Given the description of an element on the screen output the (x, y) to click on. 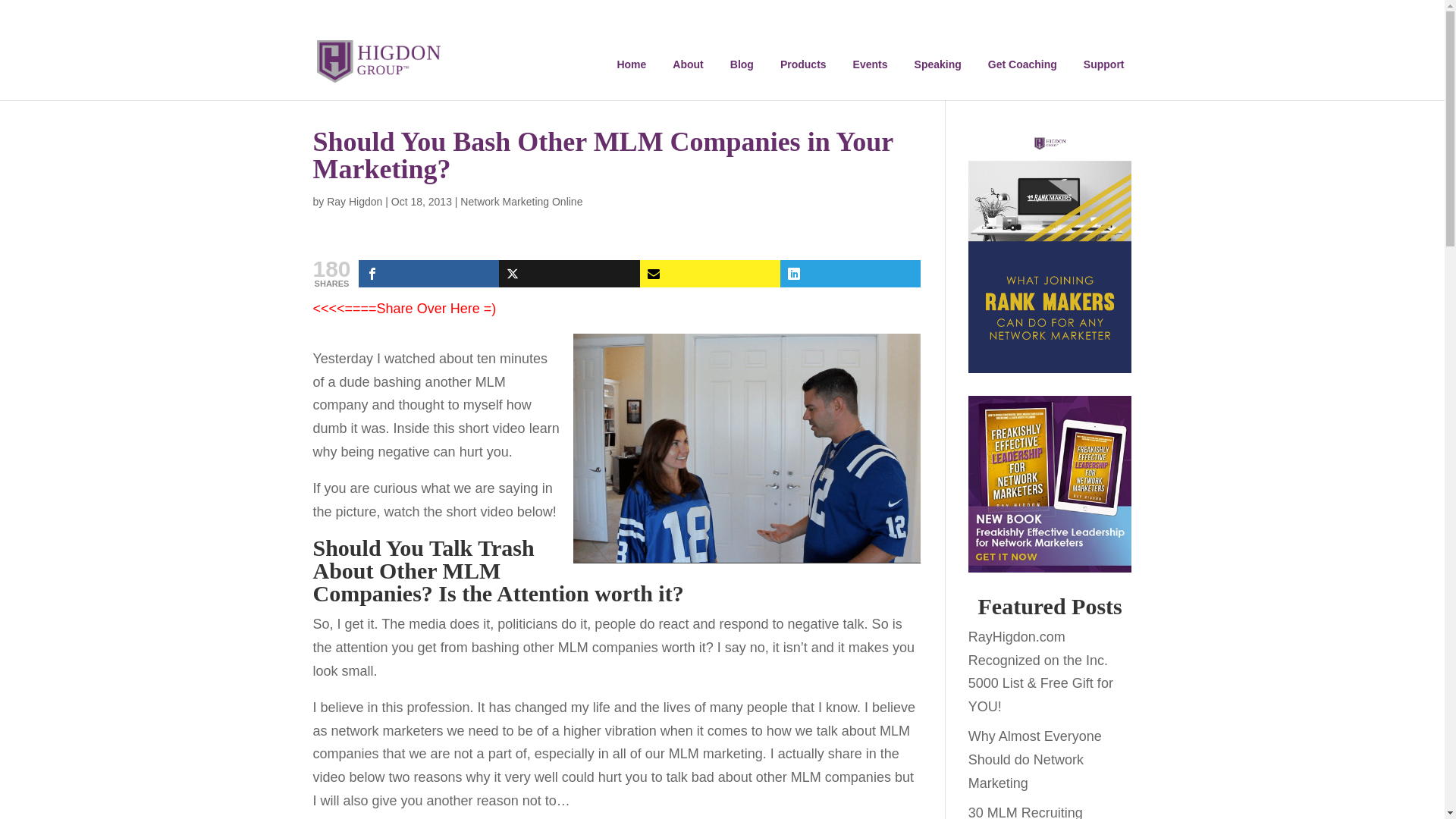
Twitter (569, 273)
Events (870, 63)
Ray Higdon (353, 201)
Support (1103, 63)
Network Marketing Online (521, 201)
Speaking (938, 63)
Home (630, 63)
Get Coaching (1021, 63)
About (687, 63)
Subscribe (710, 273)
Facebook (428, 273)
Linkedin (850, 273)
Blog (741, 63)
Products (803, 63)
Posts by Ray Higdon (353, 201)
